Given the description of an element on the screen output the (x, y) to click on. 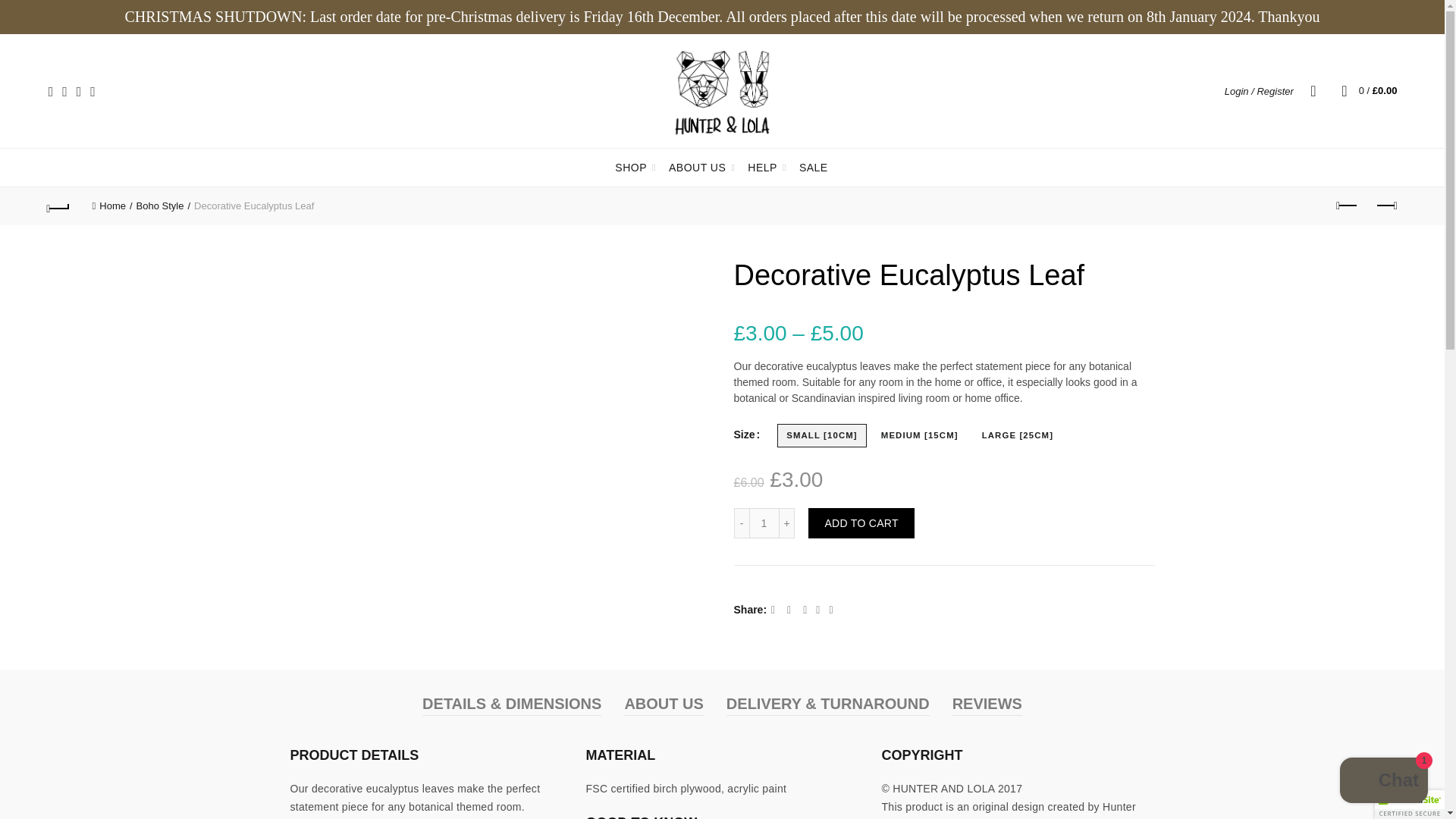
Shopify online store chat (1383, 781)
Qty (763, 522)
1 (763, 522)
